Given the description of an element on the screen output the (x, y) to click on. 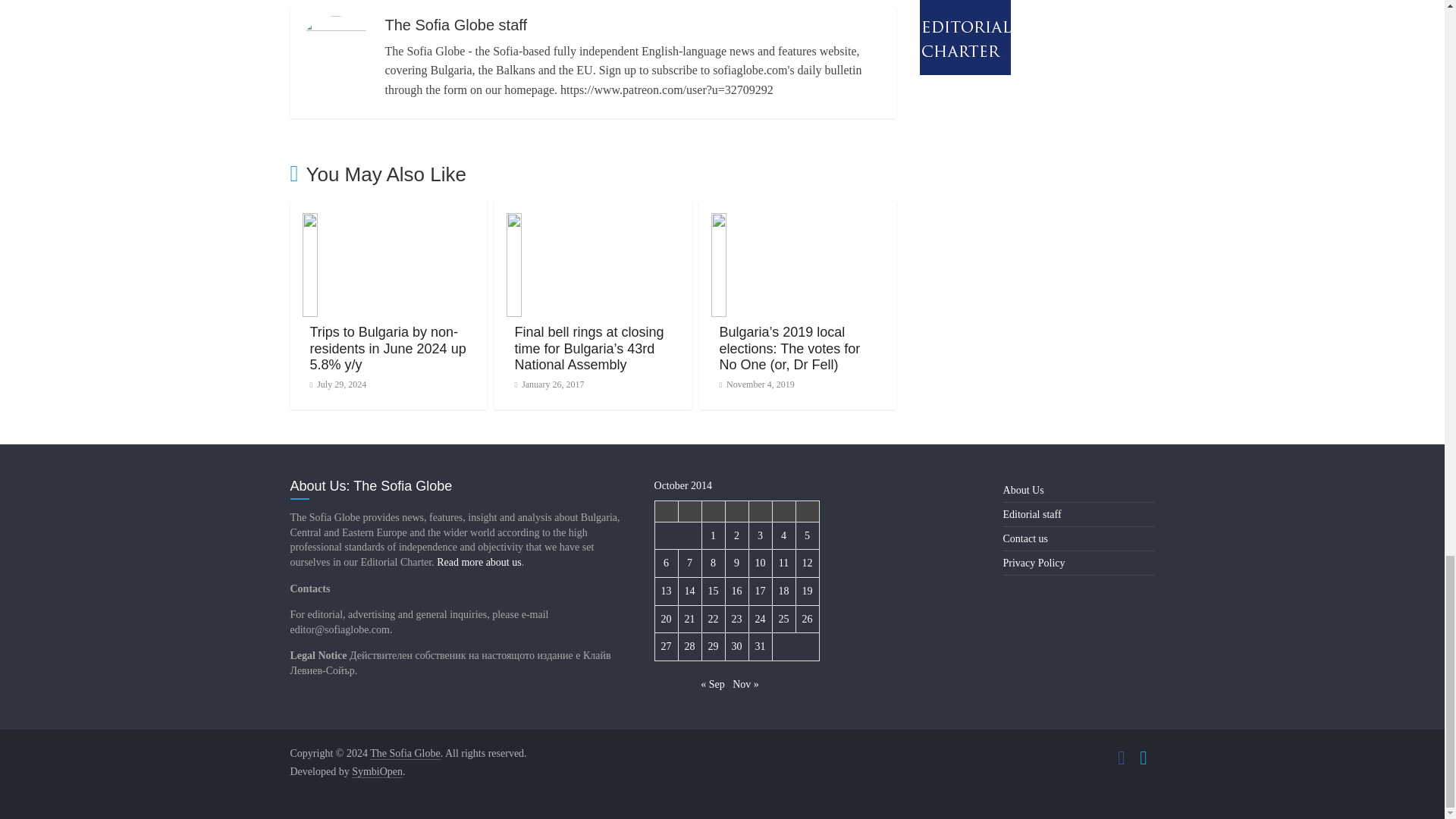
November 4, 2019 (756, 384)
2:32 PM (548, 384)
July 29, 2024 (337, 384)
January 26, 2017 (548, 384)
11:18 AM (337, 384)
